Given the description of an element on the screen output the (x, y) to click on. 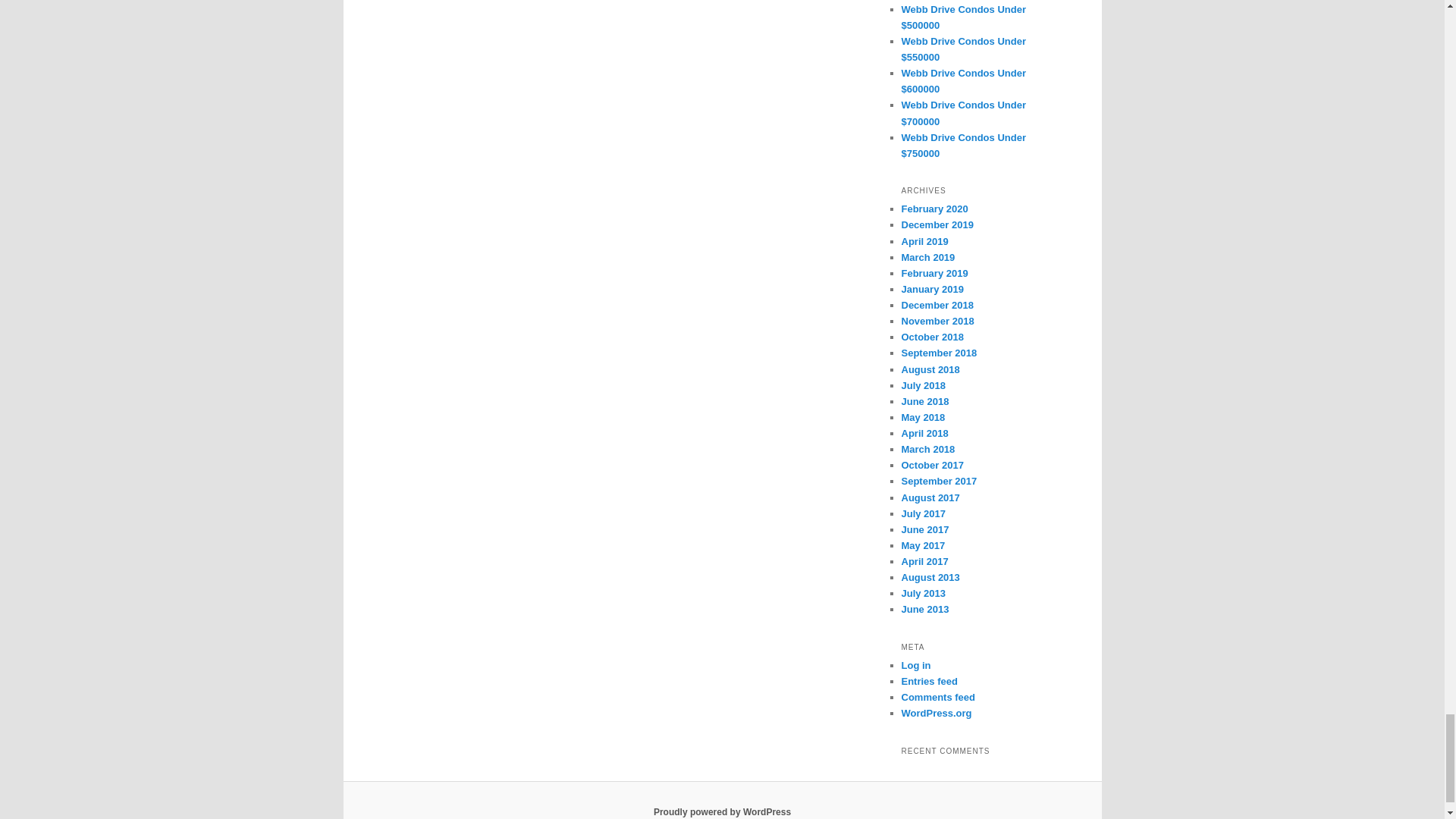
Semantic Personal Publishing Platform (721, 811)
